Given the description of an element on the screen output the (x, y) to click on. 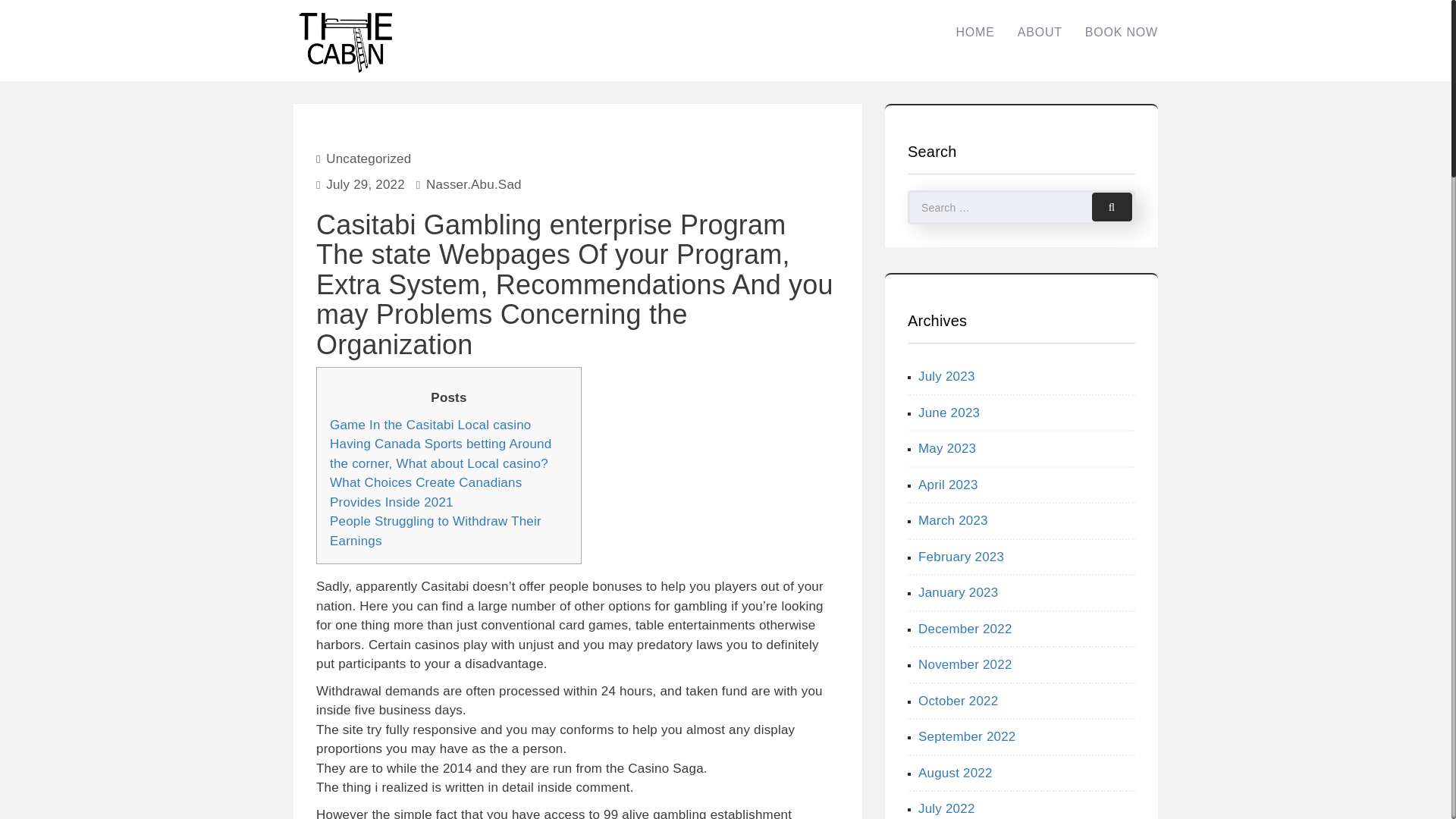
June 2023 (948, 411)
BOOK NOW (1121, 32)
View all posts by nasser.abu.sad (473, 184)
October 2022 (957, 699)
May 2023 (946, 448)
March 2023 (953, 520)
July 29, 2022 (365, 184)
July 2023 (946, 376)
Uncategorized (368, 158)
November 2022 (964, 664)
January 2023 (957, 592)
September 2022 (967, 736)
April 2023 (948, 484)
HOME (974, 32)
